Given the description of an element on the screen output the (x, y) to click on. 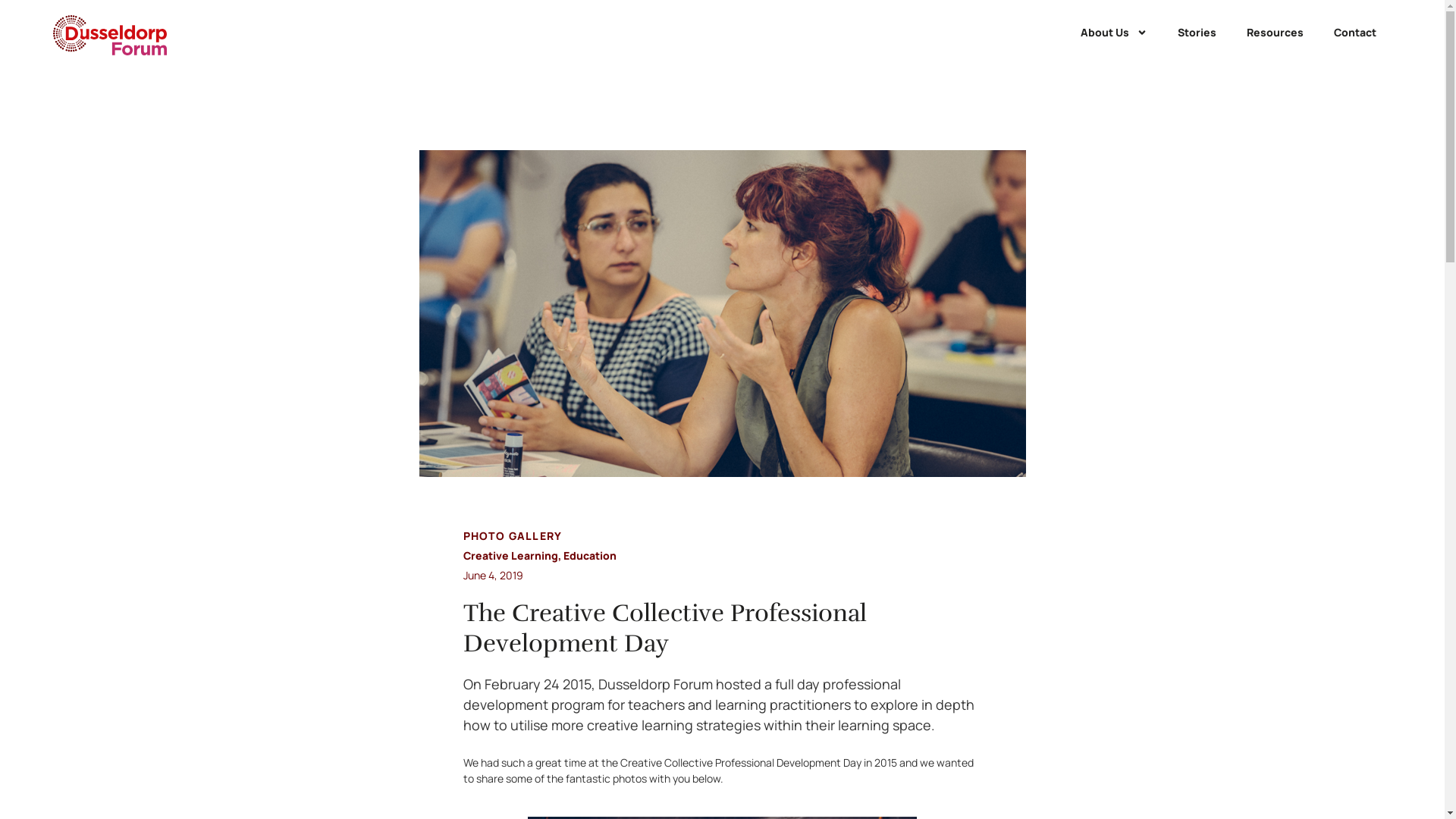
Resources Element type: text (1274, 32)
Contact Element type: text (1354, 32)
Stories Element type: text (1196, 32)
About Us Element type: text (1113, 32)
Dusseldorp_Forum_logo Element type: hover (109, 35)
